Given the description of an element on the screen output the (x, y) to click on. 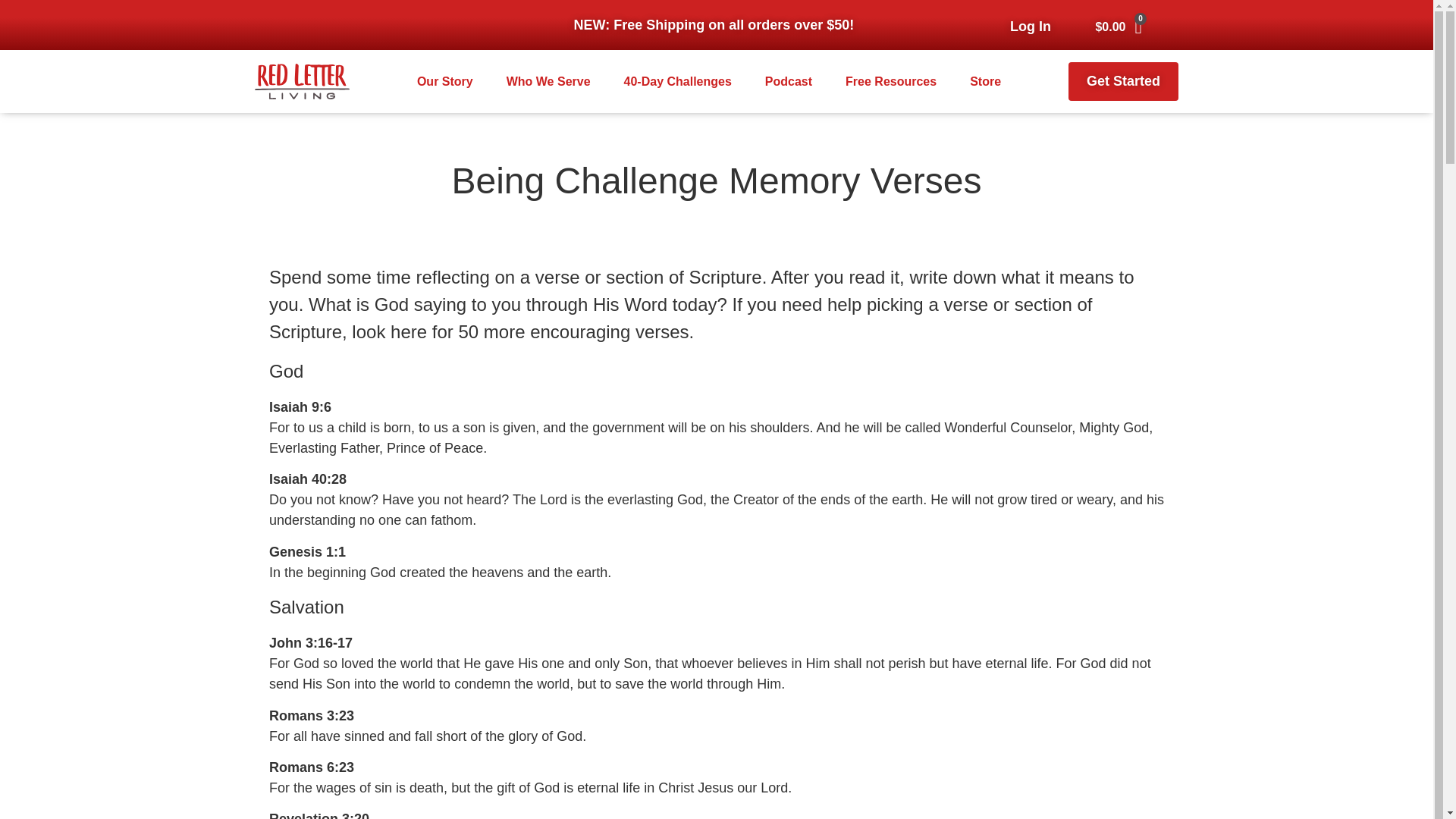
Log In (1029, 26)
Our Story (444, 81)
40-Day Challenges (678, 81)
Who We Serve (548, 81)
Store (985, 81)
Free Resources (890, 81)
Podcast (788, 81)
